Given the description of an element on the screen output the (x, y) to click on. 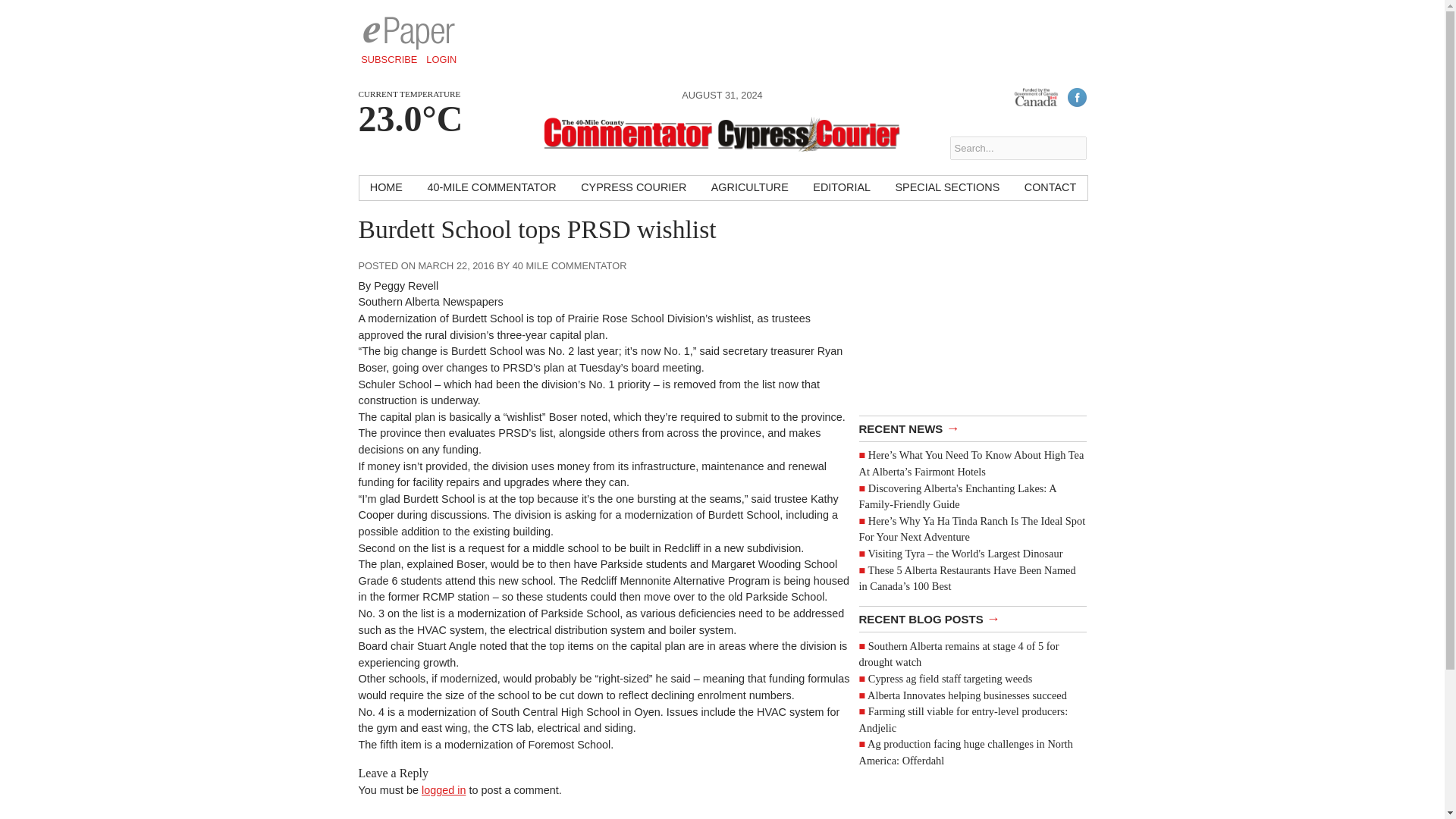
Alberta Innovates helping businesses succeed (967, 694)
LOGIN (441, 58)
CYPRESS COURIER (633, 187)
CONTACT (1049, 187)
40-MILE COMMENTATOR (491, 187)
AGRICULTURE (749, 187)
HOME (386, 187)
SUBSCRIBE (389, 58)
